Given the description of an element on the screen output the (x, y) to click on. 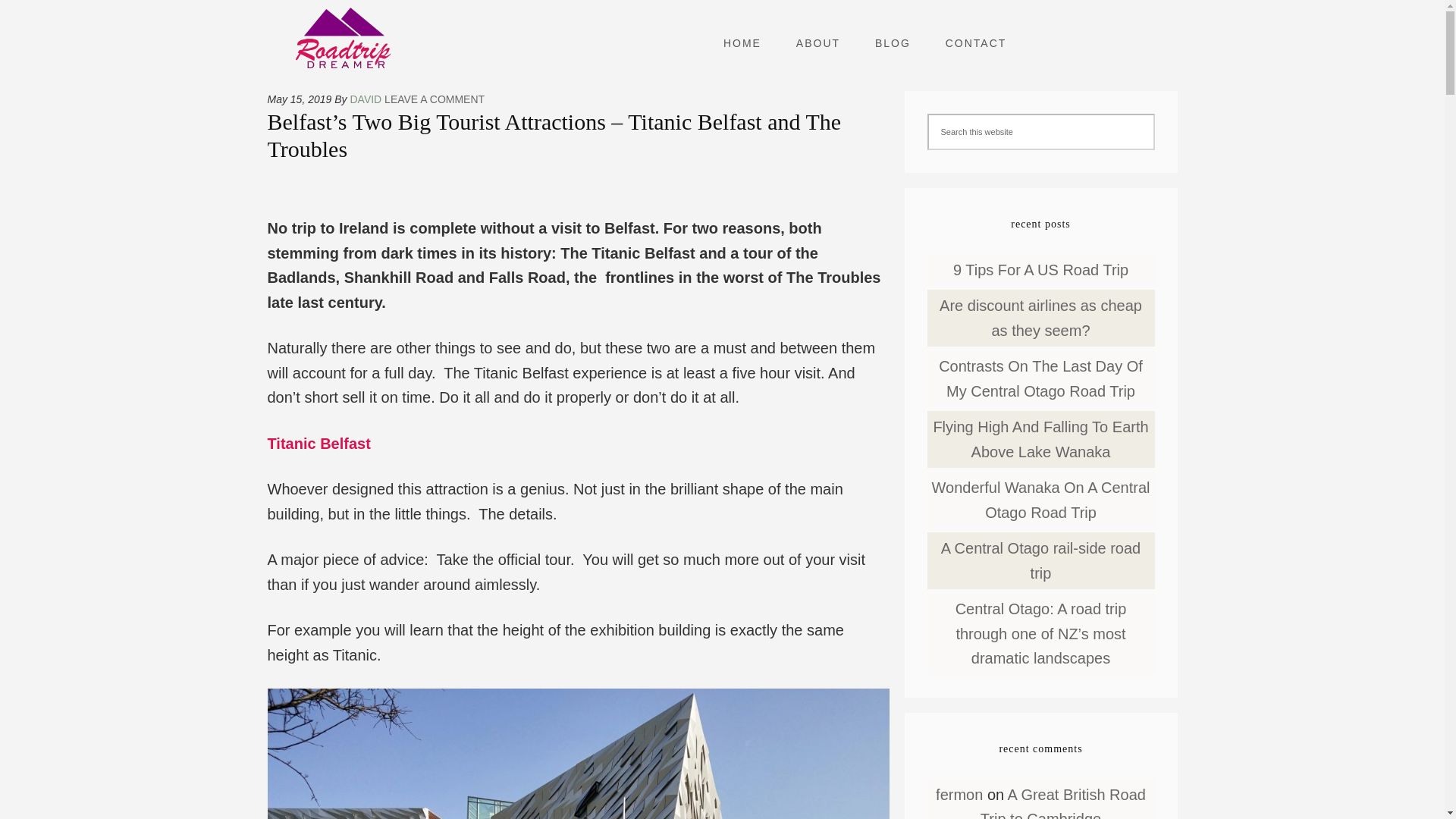
Contrasts On The Last Day Of My Central Otago Road Trip (1040, 378)
Flying High And Falling To Earth Above Lake Wanaka (1040, 439)
LEAVE A COMMENT (434, 99)
HOME (741, 42)
fermon (959, 794)
Wonderful Wanaka On A Central Otago Road Trip (1040, 499)
DAVID (365, 99)
Are discount airlines as cheap as they seem? (1040, 318)
ABOUT (818, 42)
A Central Otago rail-side road trip (1040, 560)
A Great British Road Trip to Cambridge (1062, 802)
9 Tips For A US Road Trip (1040, 269)
